Given the description of an element on the screen output the (x, y) to click on. 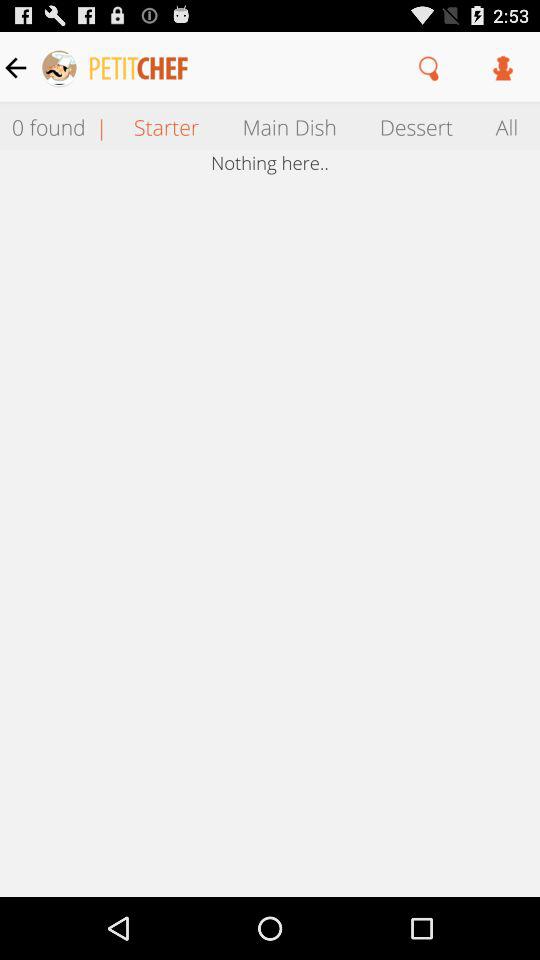
launch the dessert item (416, 126)
